Given the description of an element on the screen output the (x, y) to click on. 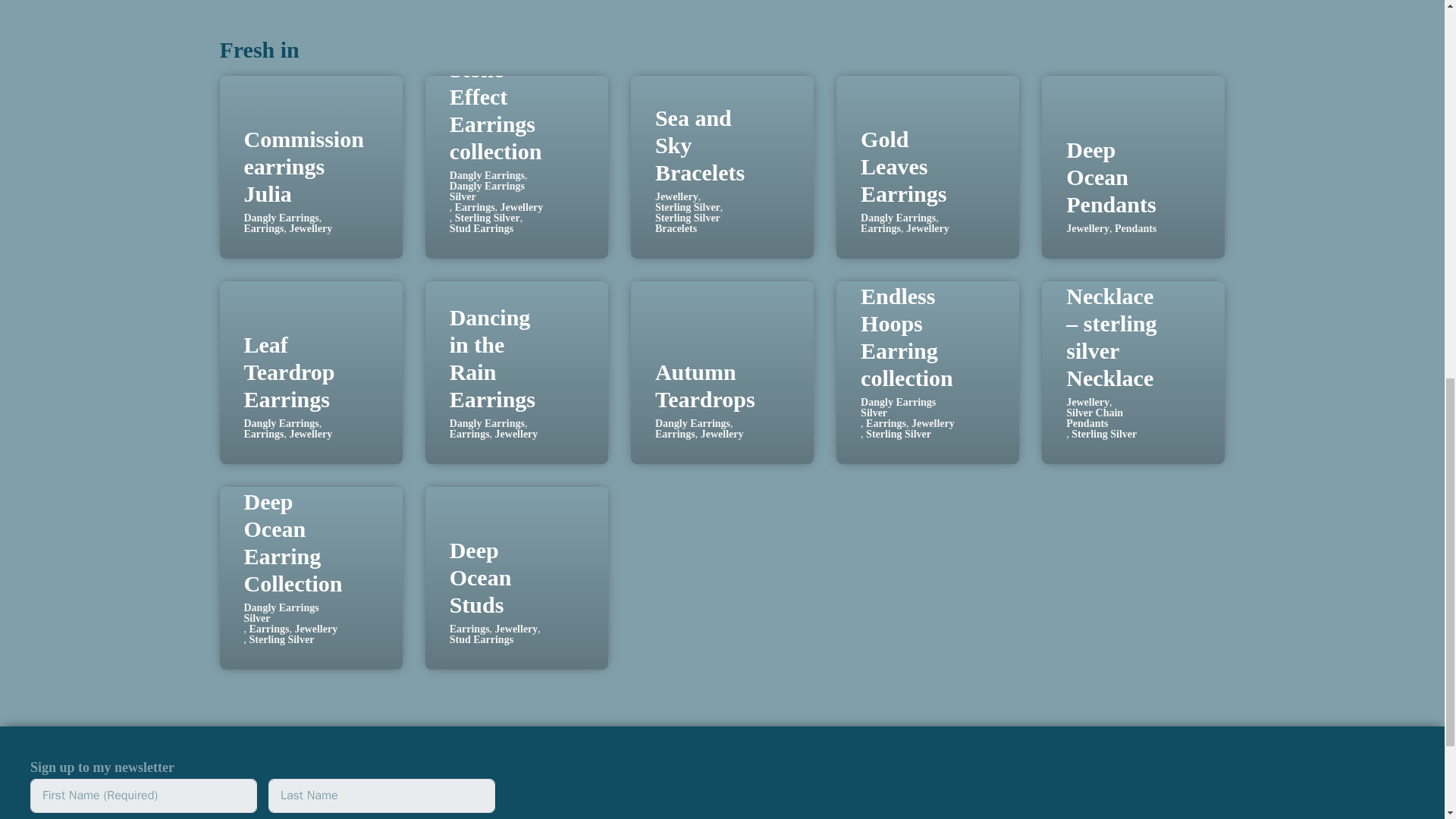
Dangly Earrings Silver (496, 191)
Sterling Silver Bracelets (702, 223)
Earrings (474, 207)
Stud Earrings (481, 228)
Sterling Silver (687, 207)
Sterling Silver (486, 217)
Sea and Sky Bracelets (699, 145)
Jewellery (521, 207)
Commission earrings Julia (304, 166)
Dangly Earrings (898, 217)
